Given the description of an element on the screen output the (x, y) to click on. 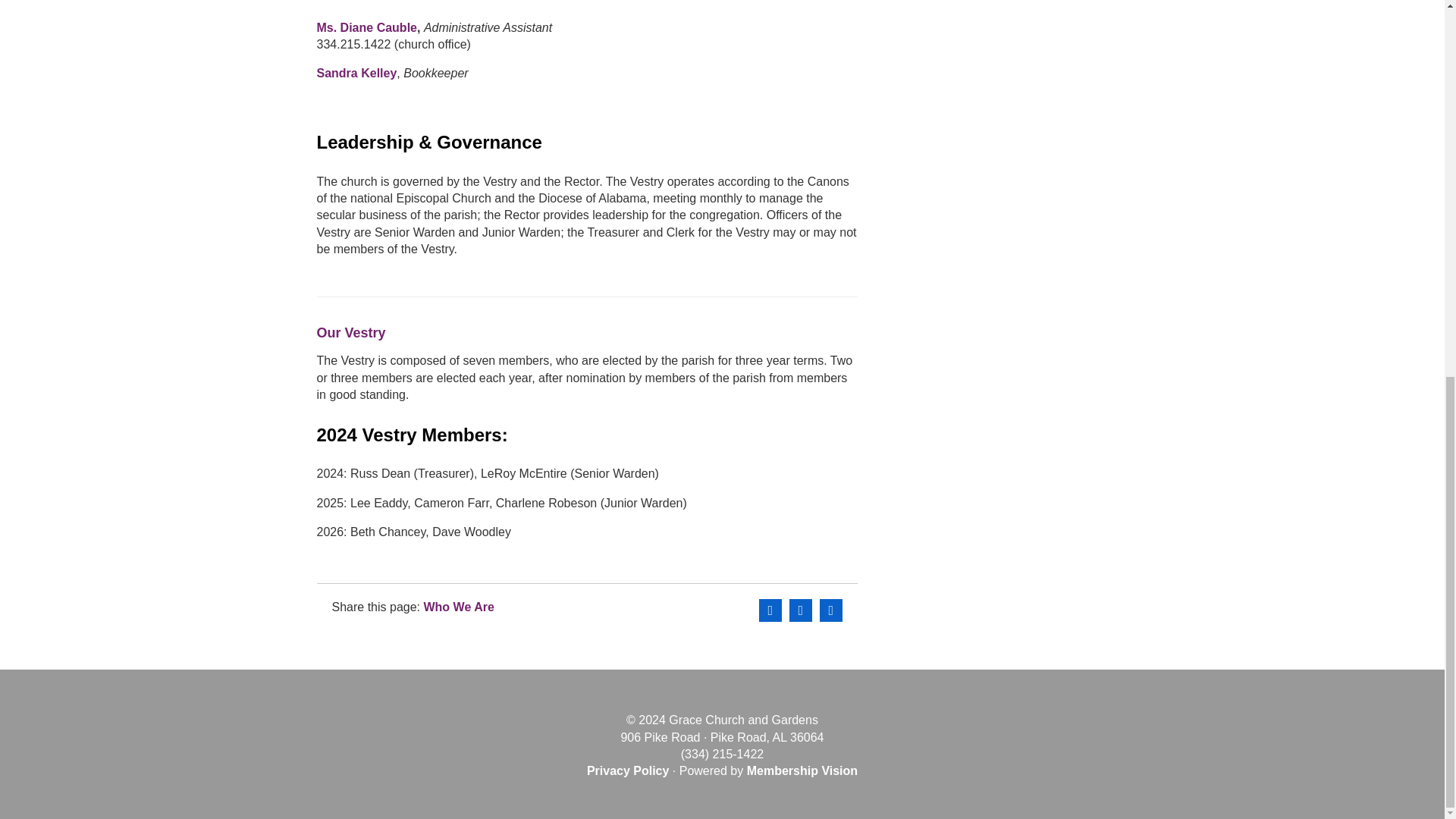
Share on Twitter (800, 609)
Share on Facebook (769, 609)
Share via Email (831, 609)
